Given the description of an element on the screen output the (x, y) to click on. 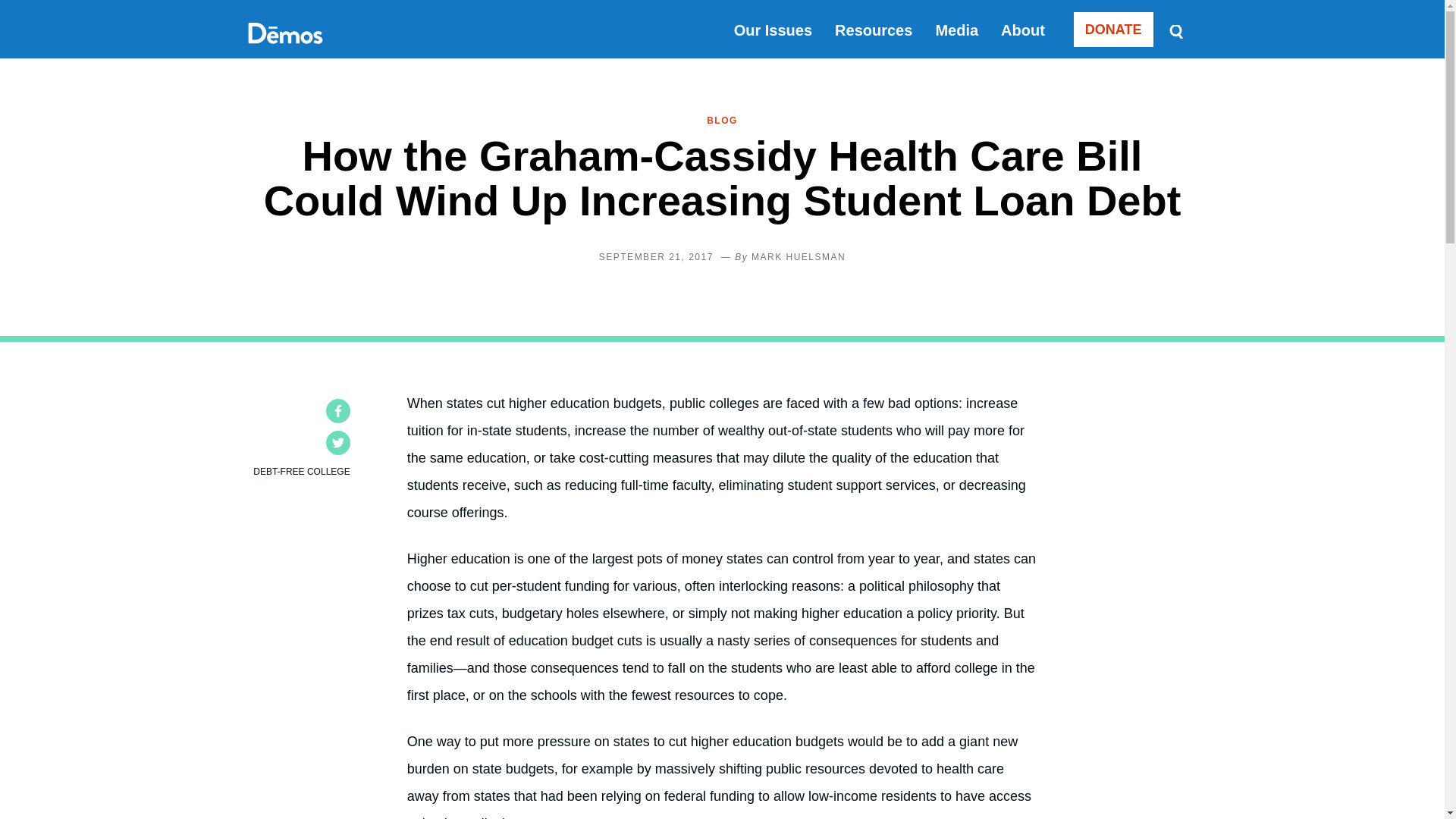
Media (956, 30)
About (1023, 30)
Facebook (338, 410)
Search (1176, 30)
Search (1176, 30)
Our Issues (772, 30)
Twitter (338, 442)
DEBT-FREE COLLEGE (301, 471)
DONATE (1113, 29)
